Given the description of an element on the screen output the (x, y) to click on. 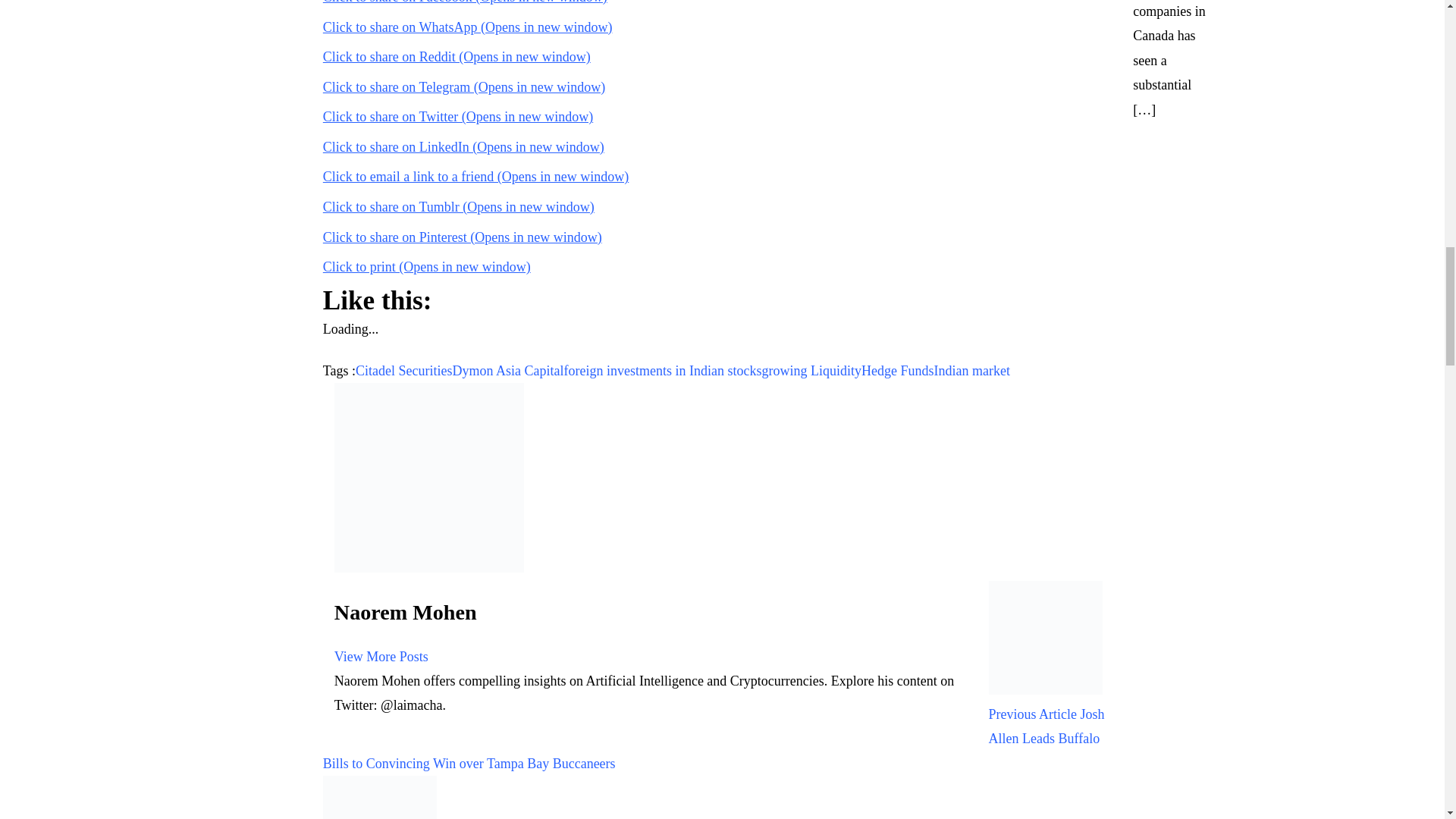
Click to share on LinkedIn (463, 146)
Click to print (427, 266)
Click to email a link to a friend (475, 176)
Click to share on Tumblr (458, 206)
Click to share on Telegram (464, 87)
Click to share on Pinterest (462, 237)
Click to share on Reddit (457, 56)
Click to share on WhatsApp (467, 27)
Click to share on Twitter (457, 116)
Click to share on Facebook (465, 2)
